Given the description of an element on the screen output the (x, y) to click on. 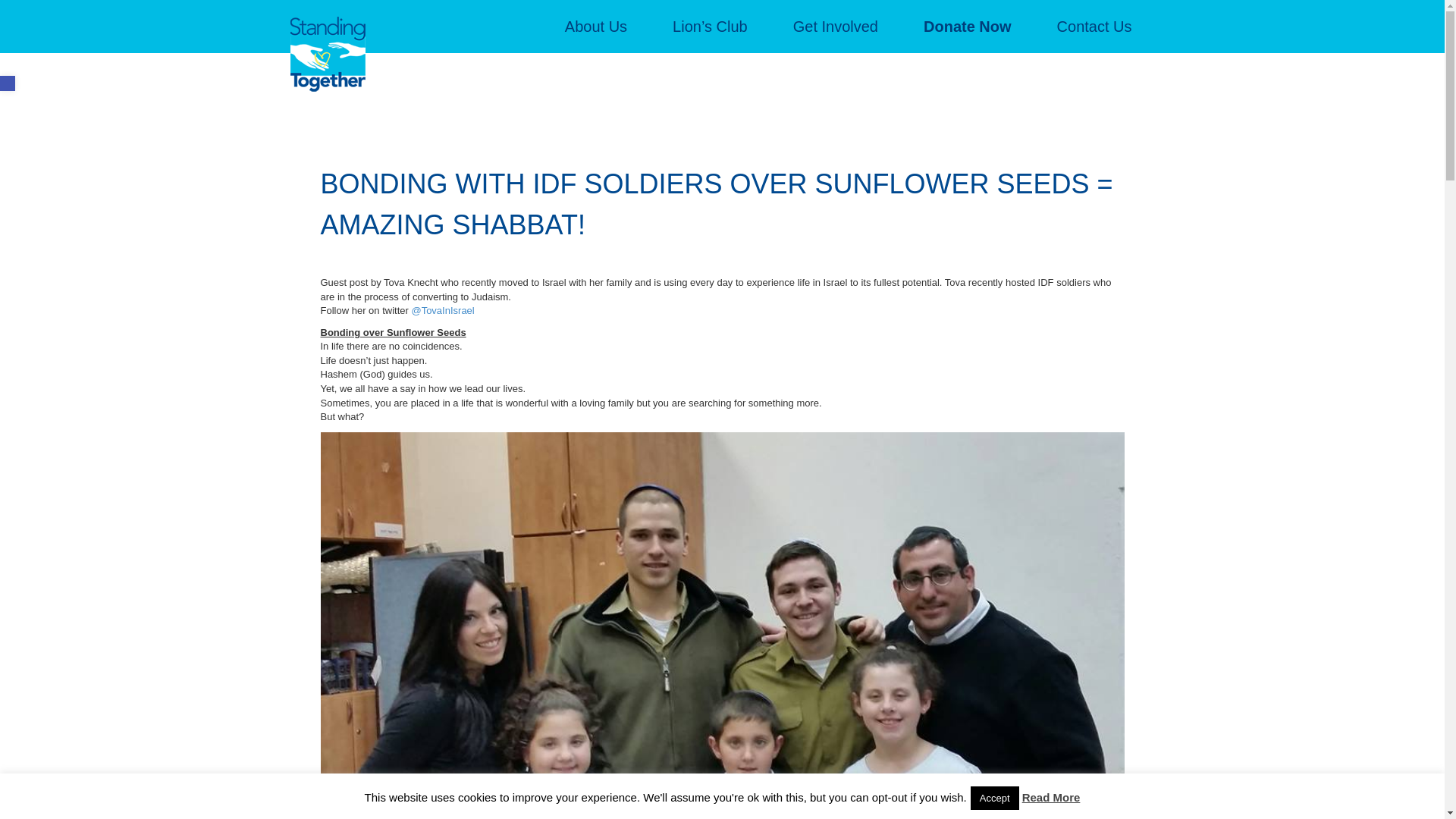
About Us (595, 26)
Get Involved (835, 26)
Accessibility Tools (7, 83)
Open toolbar (7, 83)
Donate Now (967, 26)
Contact Us (1093, 26)
